Given the description of an element on the screen output the (x, y) to click on. 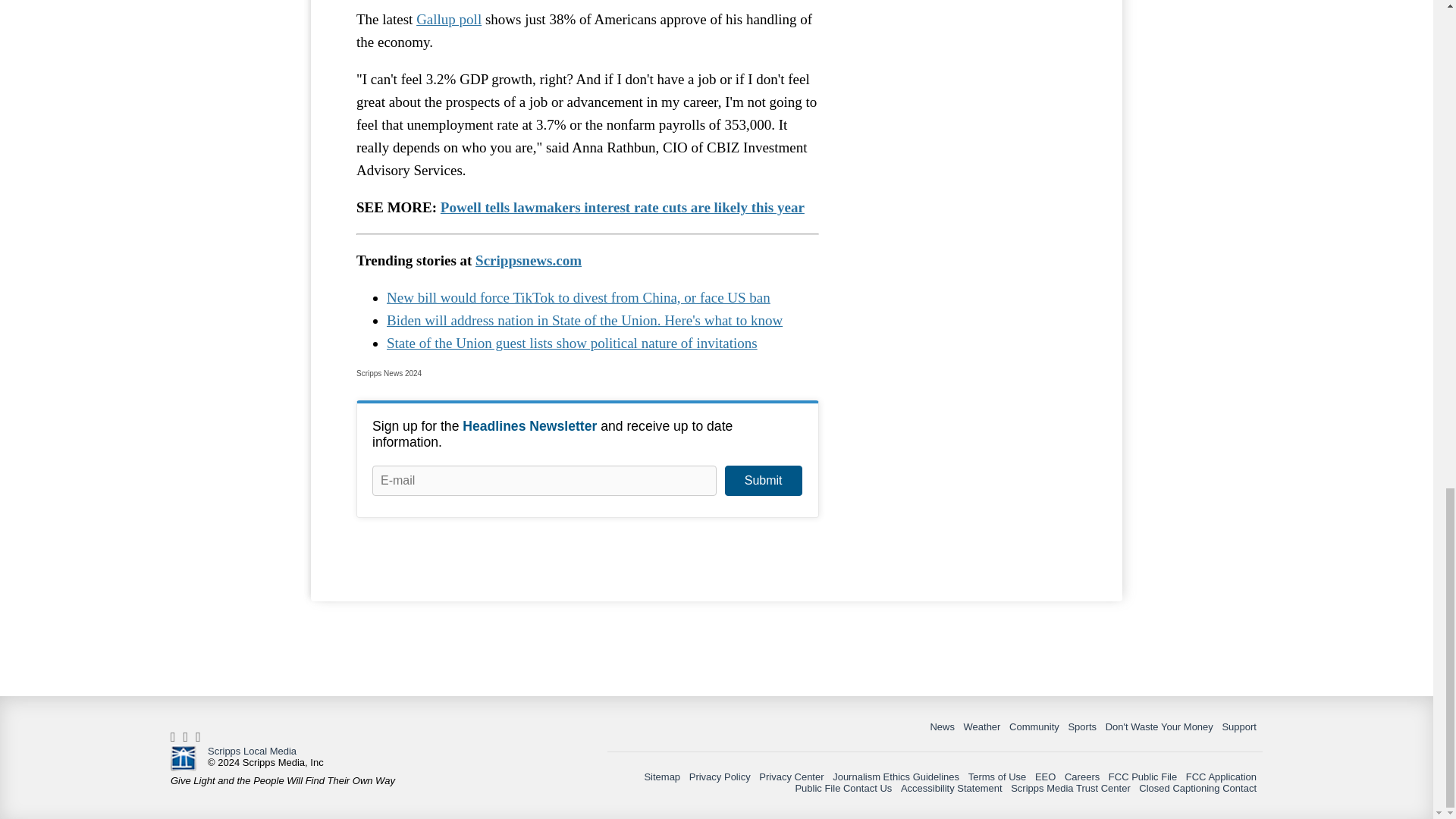
Submit (763, 481)
